Given the description of an element on the screen output the (x, y) to click on. 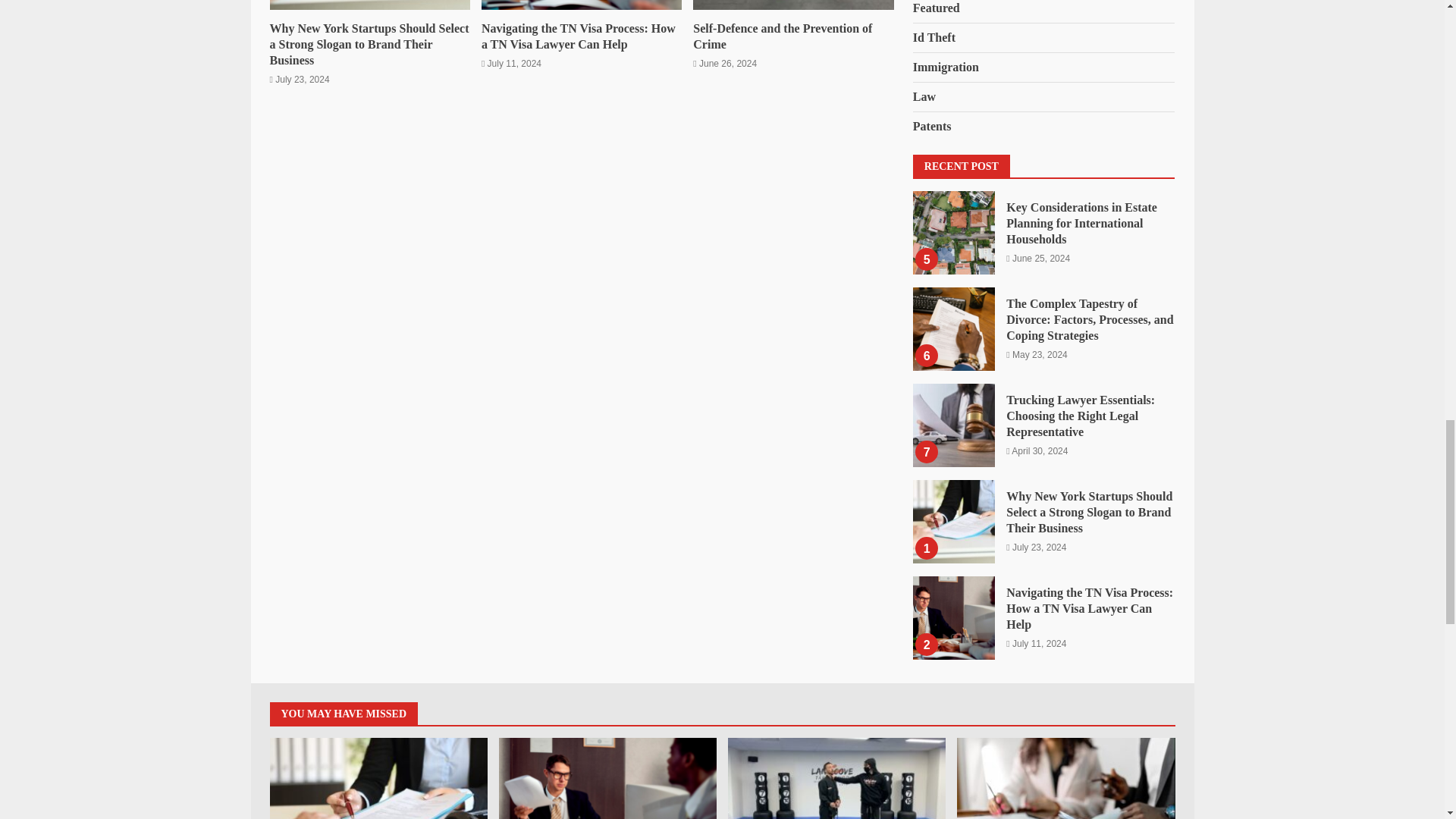
Self-Defence and the Prevention of Crime (793, 4)
Self-Defence and the Prevention of Crime (782, 36)
